Given the description of an element on the screen output the (x, y) to click on. 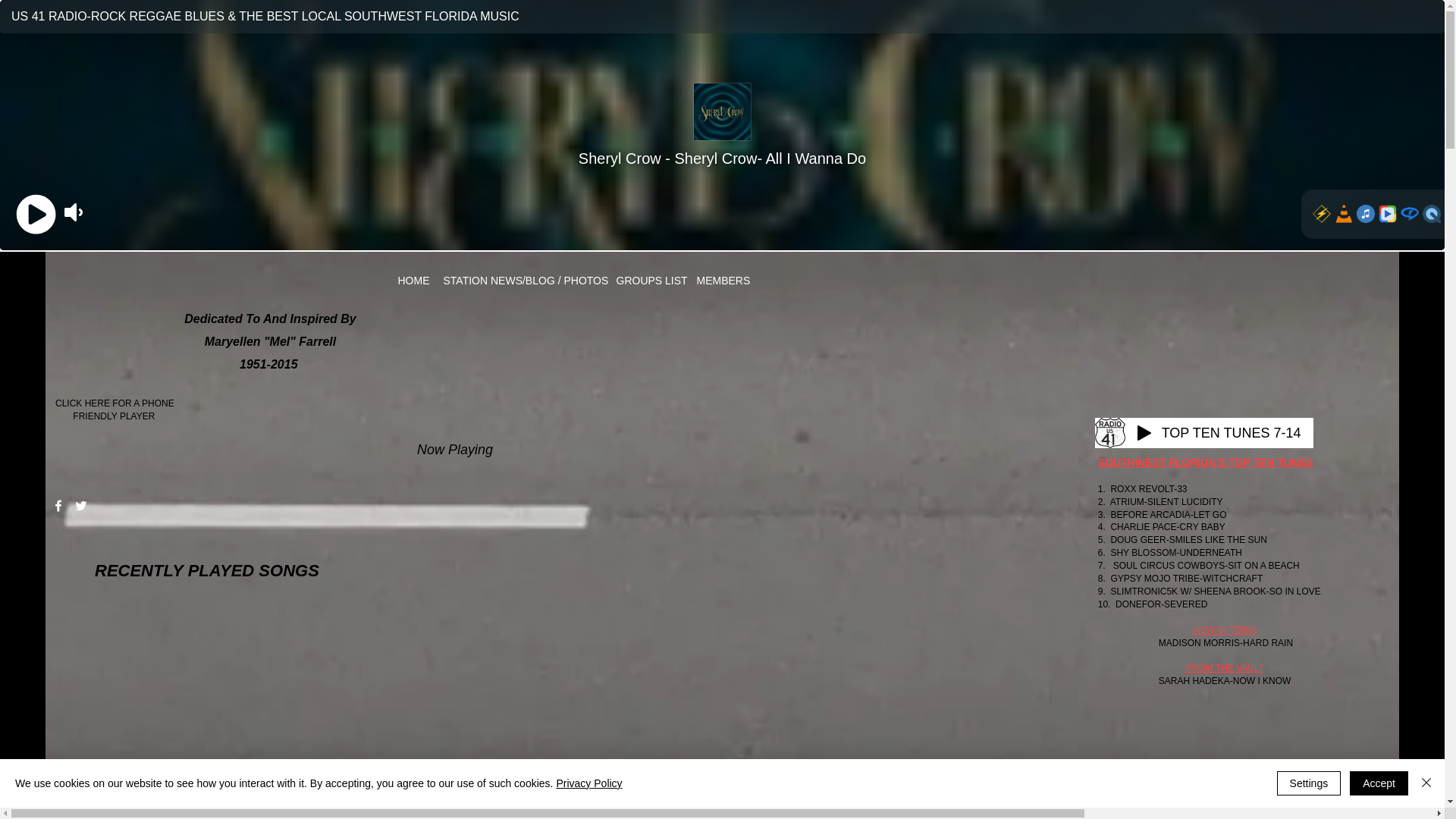
Privacy Policy (588, 783)
Settings (1308, 783)
GROUPS LIST (648, 280)
MEMBERS (720, 280)
HOME (412, 280)
Accept (1378, 783)
